Given the description of an element on the screen output the (x, y) to click on. 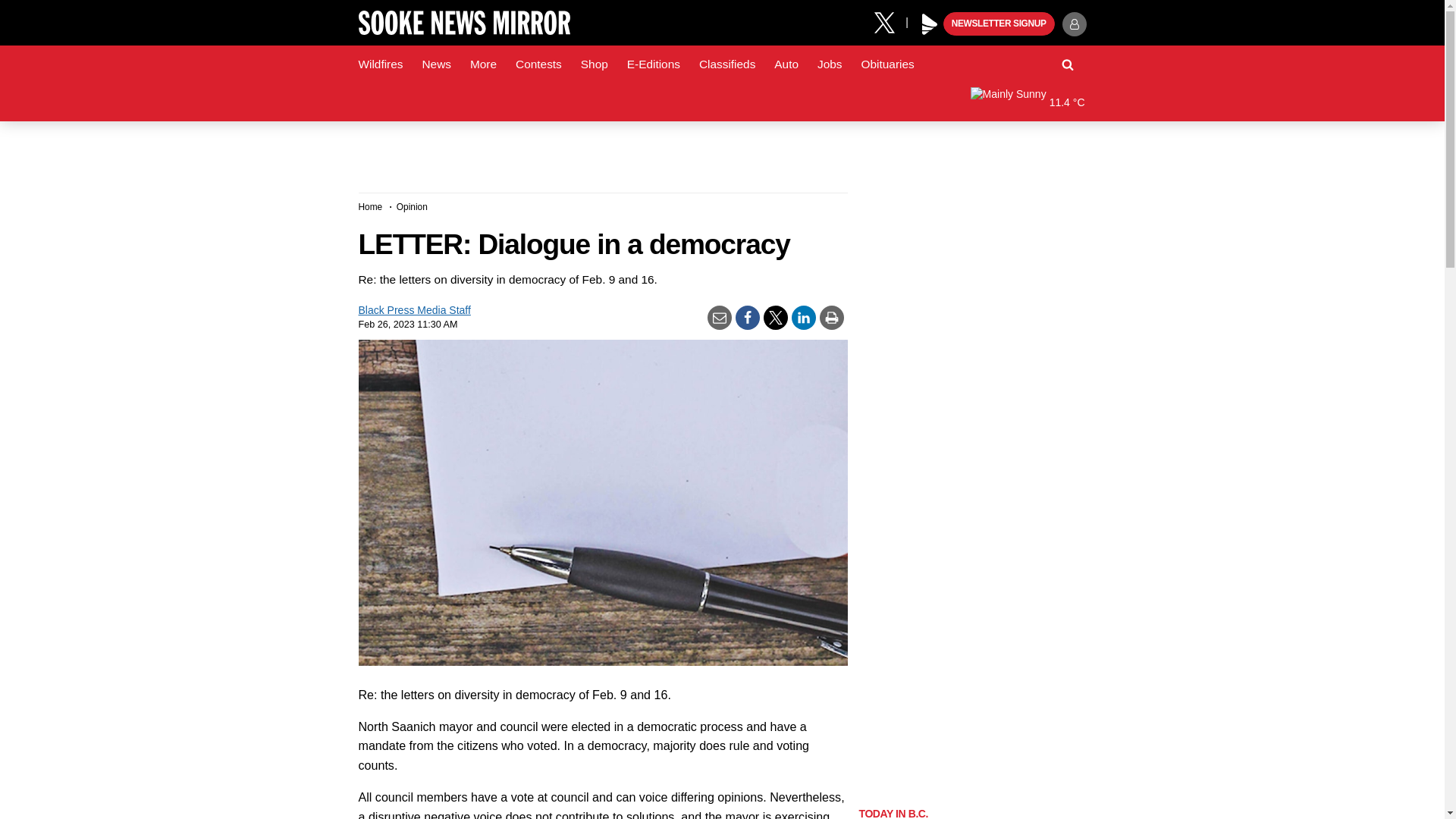
Wildfires (380, 64)
News (435, 64)
X (889, 21)
NEWSLETTER SIGNUP (998, 24)
Play (929, 24)
Black Press Media (929, 24)
